Given the description of an element on the screen output the (x, y) to click on. 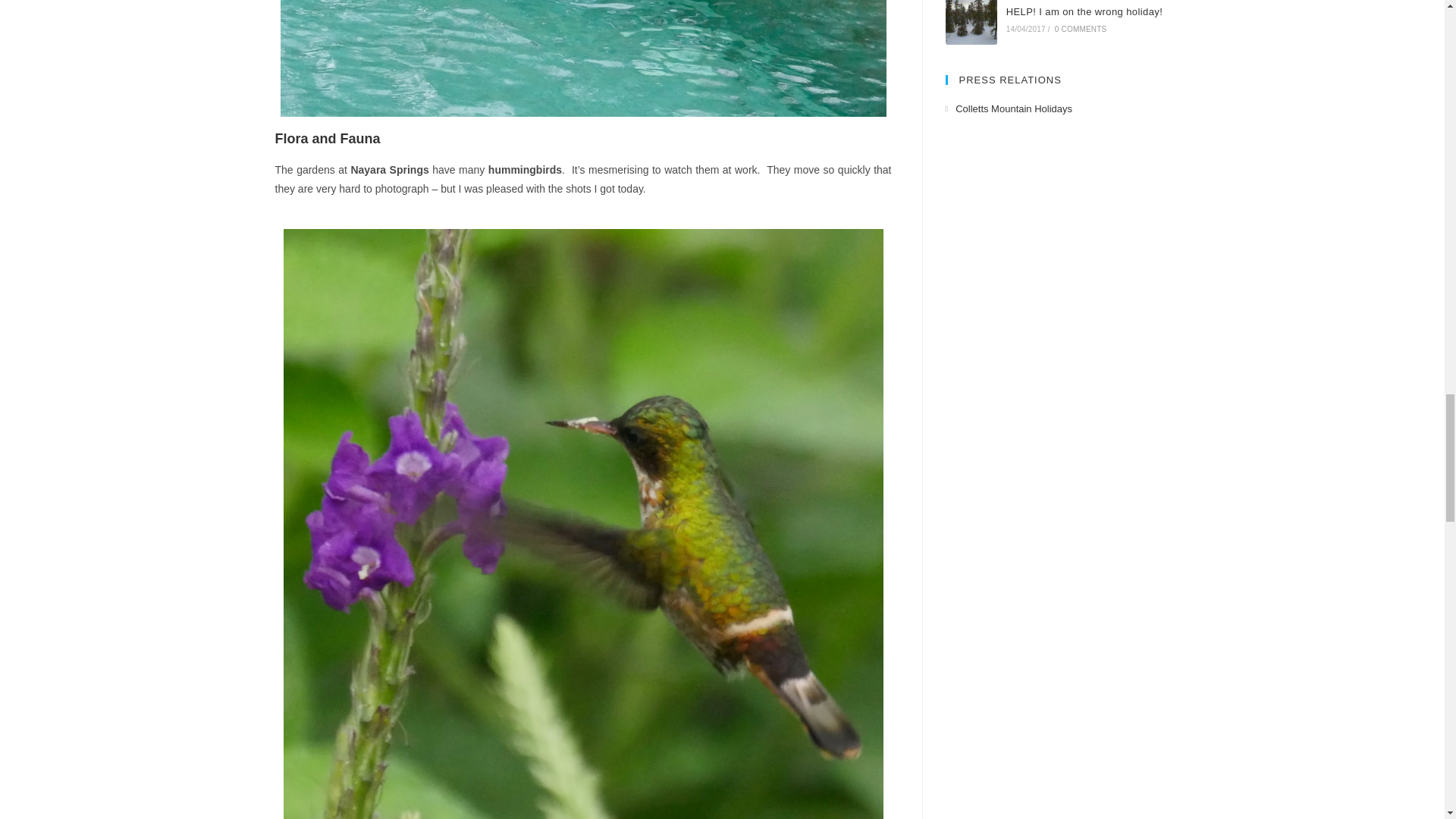
HELP! I am on the wrong holiday! (969, 22)
